Given the description of an element on the screen output the (x, y) to click on. 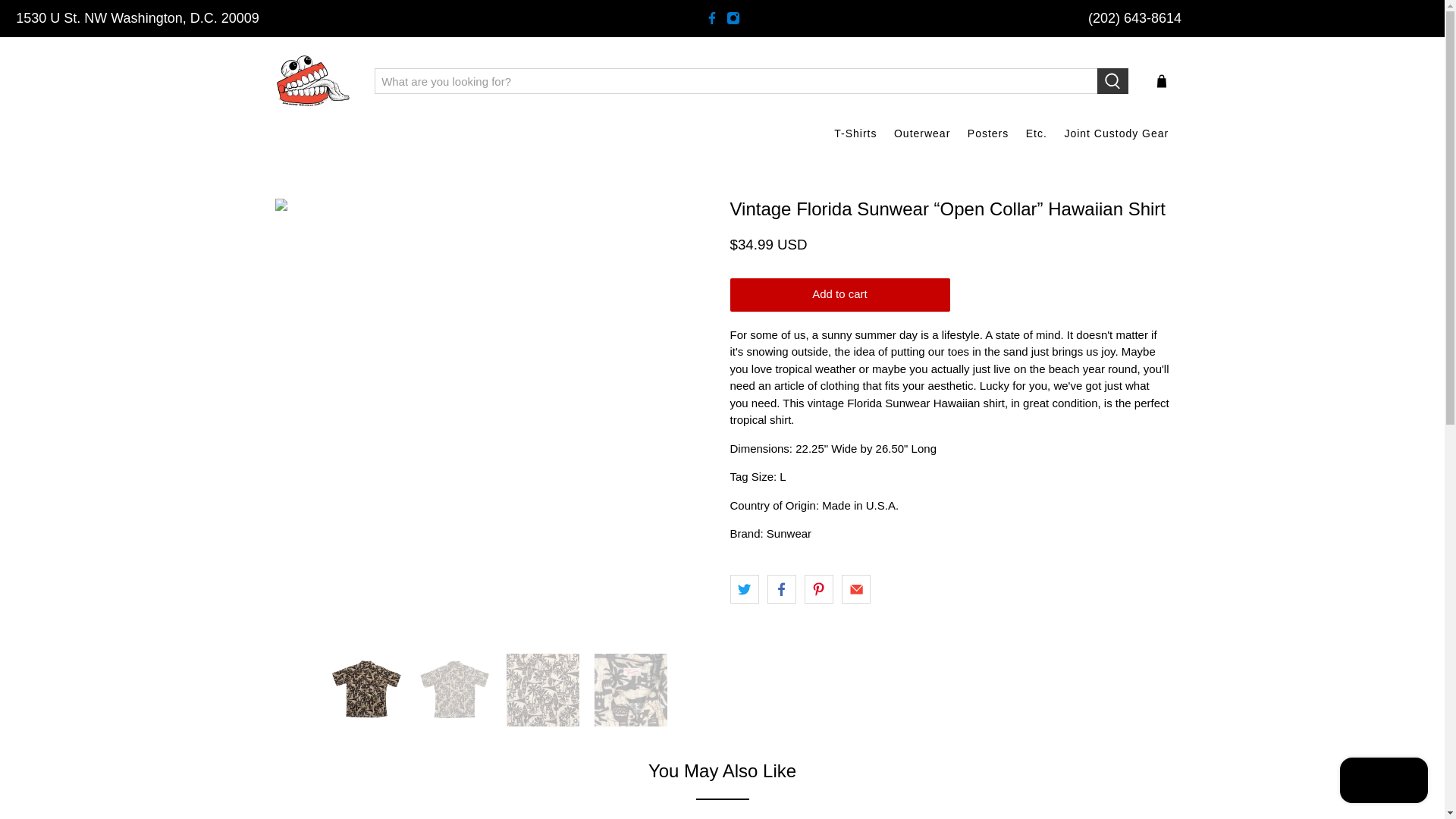
Share this on Facebook (781, 588)
Outerwear (922, 133)
Share this on Pinterest (818, 588)
Joint Custody Gear (1115, 133)
Posters (988, 133)
Share this on Twitter (743, 588)
Etc. (1037, 133)
T-Shirts (855, 133)
Shopify online store chat (1383, 781)
jointcustodydc on Instagram (732, 18)
